Given the description of an element on the screen output the (x, y) to click on. 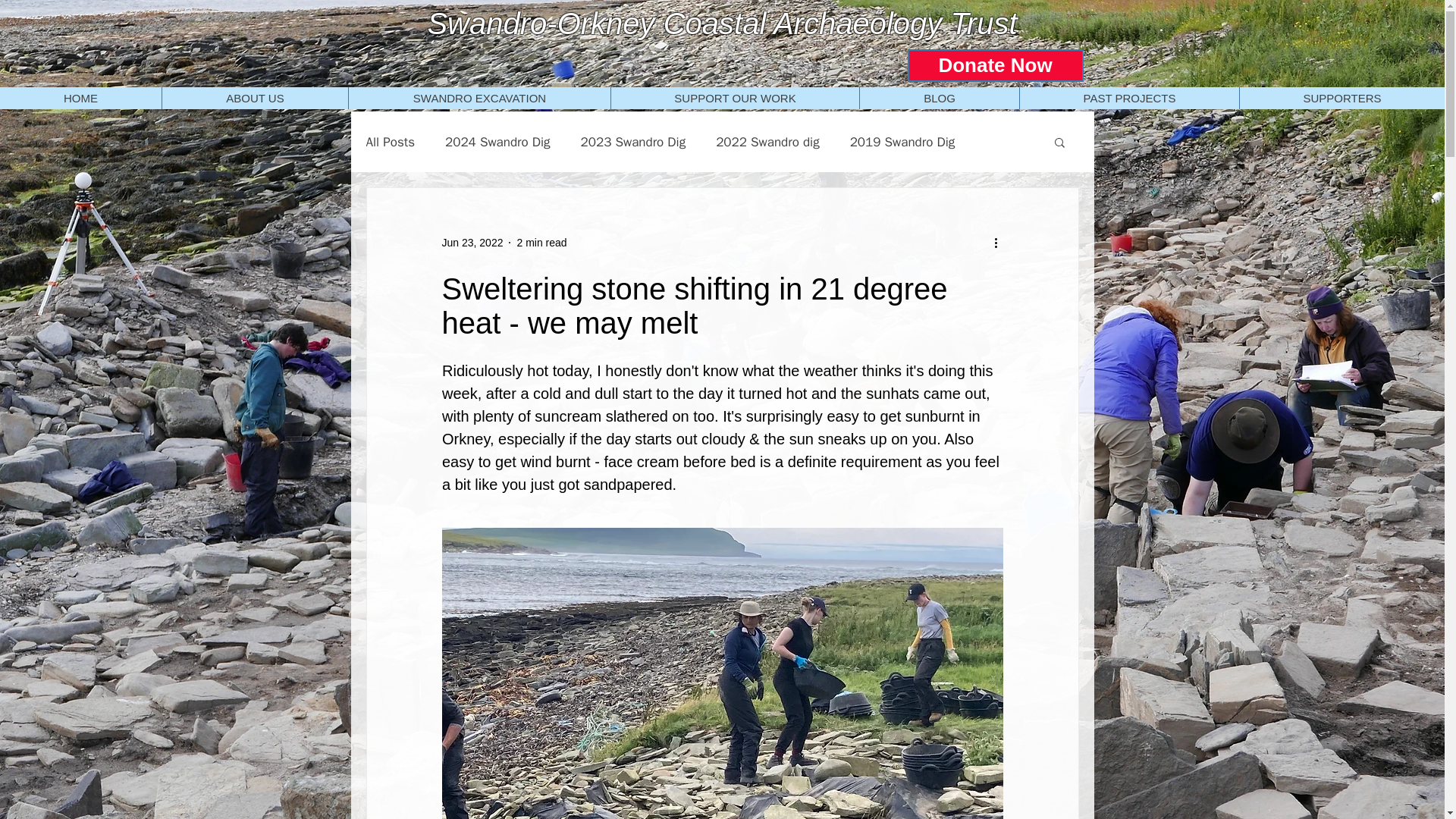
2022 Swandro dig (767, 141)
PAST PROJECTS (1129, 97)
All Posts (389, 141)
SUPPORT OUR WORK (734, 97)
BLOG (939, 97)
SWANDRO EXCAVATION (478, 97)
2019 Swandro Dig (902, 141)
2024 Swandro Dig (497, 141)
2023 Swandro Dig (632, 141)
Donate Now (995, 65)
Jun 23, 2022 (471, 242)
HOME (80, 97)
2 min read (541, 242)
ABOUT US (254, 97)
